Given the description of an element on the screen output the (x, y) to click on. 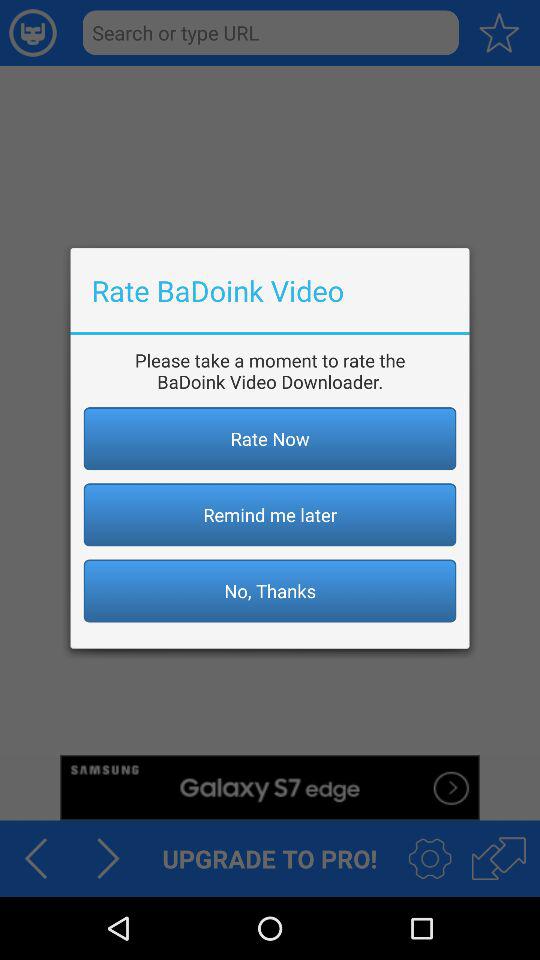
press the remind me later item (269, 514)
